Given the description of an element on the screen output the (x, y) to click on. 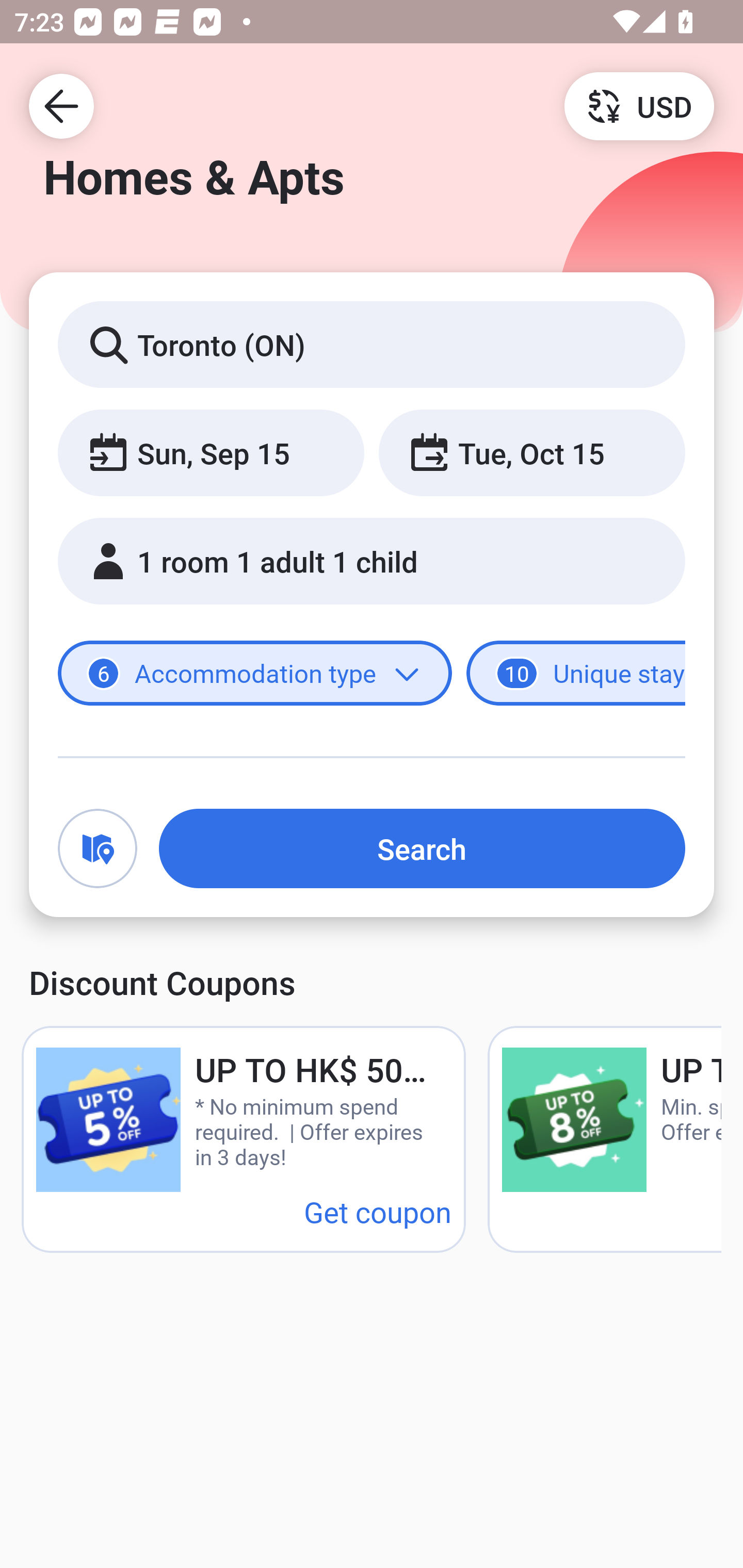
USD (639, 105)
Toronto (ON) (371, 344)
Sun, Sep 15 (210, 452)
Tue, Oct 15 (531, 452)
1 room 1 adult 1 child (371, 561)
6 Accommodation type (254, 673)
10 Unique stays (575, 673)
Search (422, 848)
Get coupon (377, 1211)
